Given the description of an element on the screen output the (x, y) to click on. 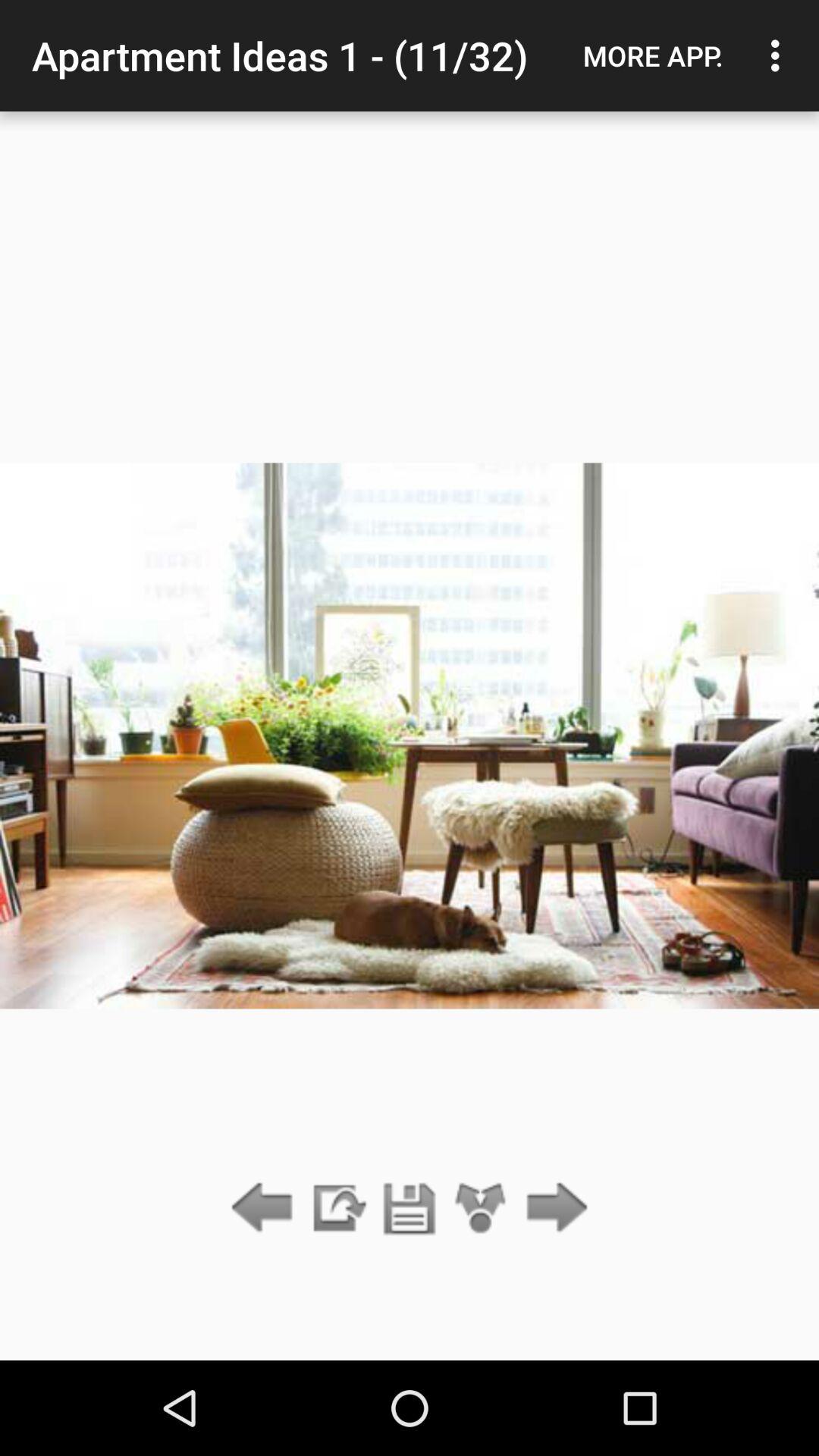
turn on app below apartment ideas 1 item (480, 1208)
